Given the description of an element on the screen output the (x, y) to click on. 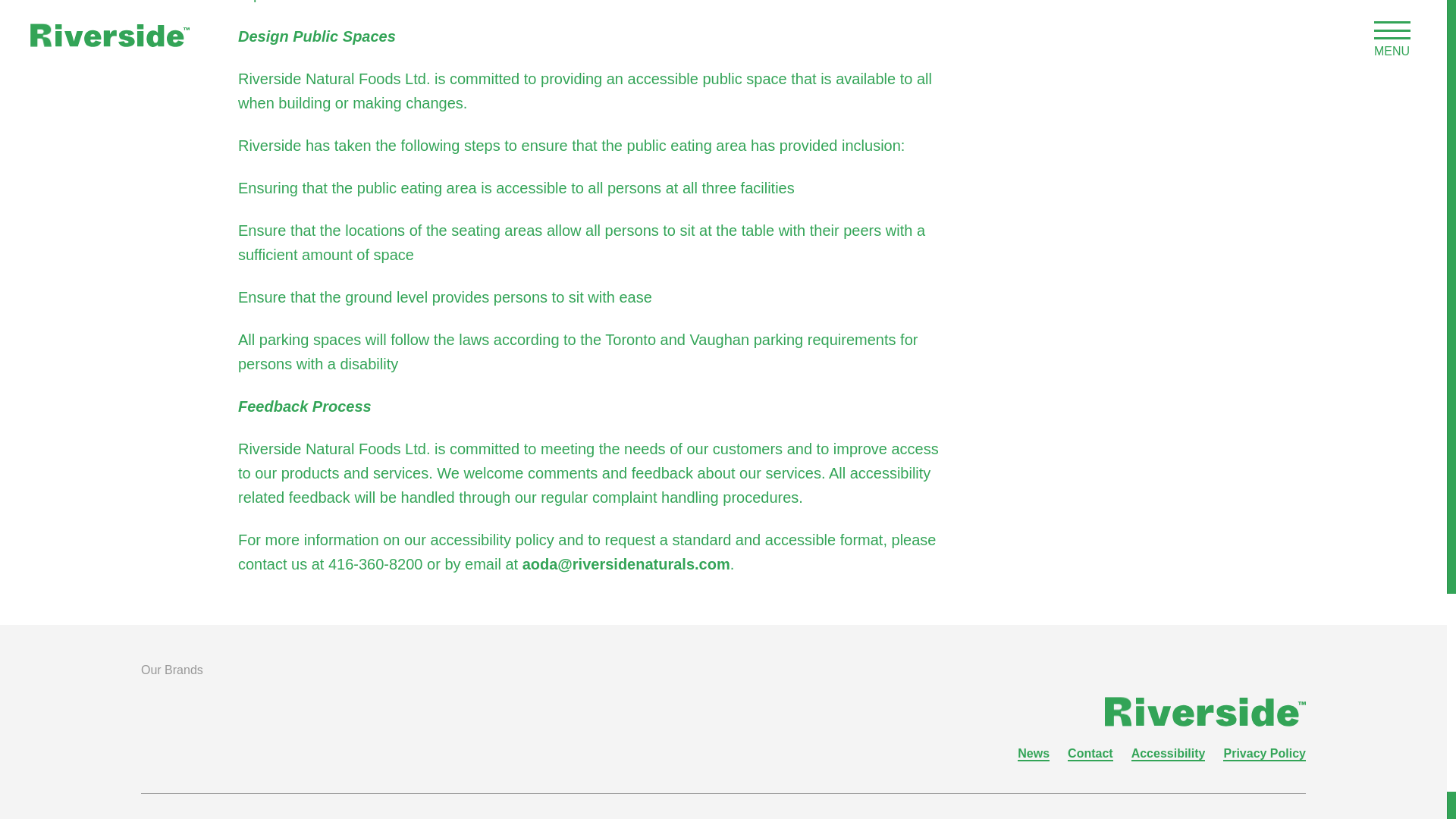
Cookie Pal (485, 723)
News (1033, 753)
News (1033, 753)
MadeGood (183, 723)
Privacy Policy (1264, 753)
Good to Go (329, 723)
Contact (1090, 753)
Home (1205, 711)
Accessibility (1168, 753)
